Given the description of an element on the screen output the (x, y) to click on. 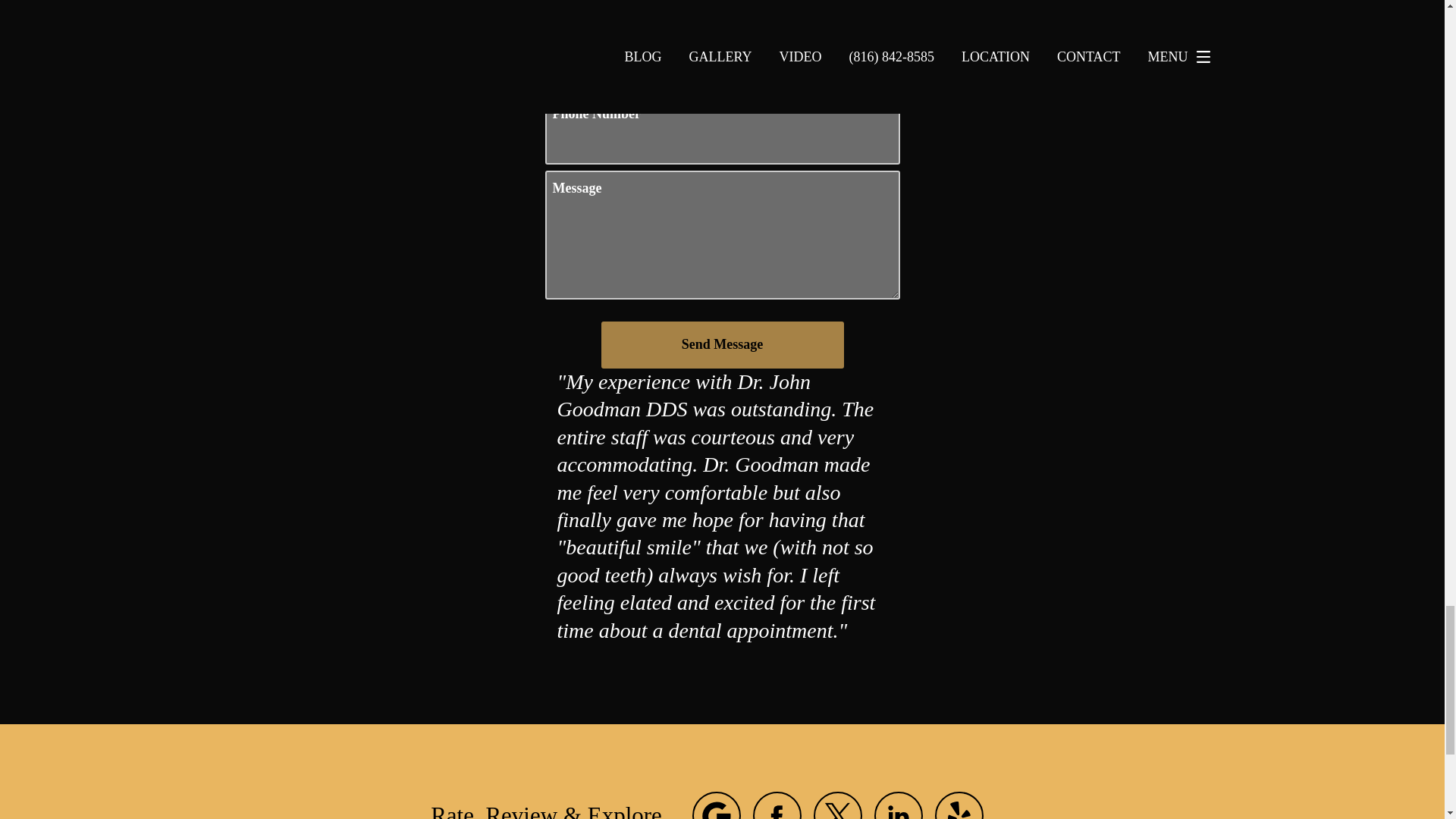
Send Message (721, 344)
Yelp (959, 805)
Google (717, 805)
Facebook (777, 805)
LinkedIn (899, 805)
Twitter (837, 805)
